Given the description of an element on the screen output the (x, y) to click on. 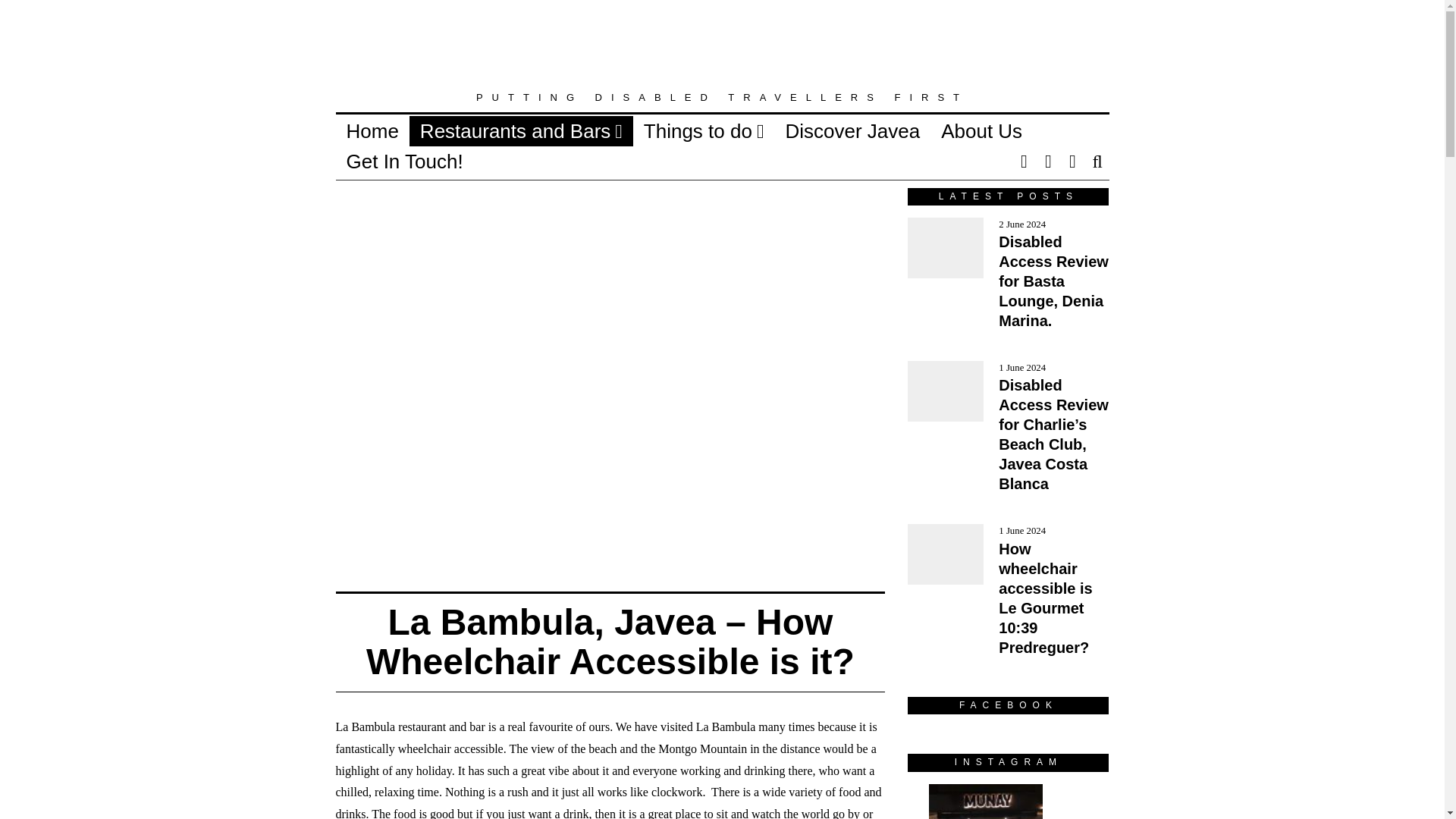
Get In Touch! (403, 160)
About Us (981, 130)
Restaurants and Bars (521, 130)
Home (371, 130)
Things to do (703, 130)
Discover Javea (852, 130)
